Given the description of an element on the screen output the (x, y) to click on. 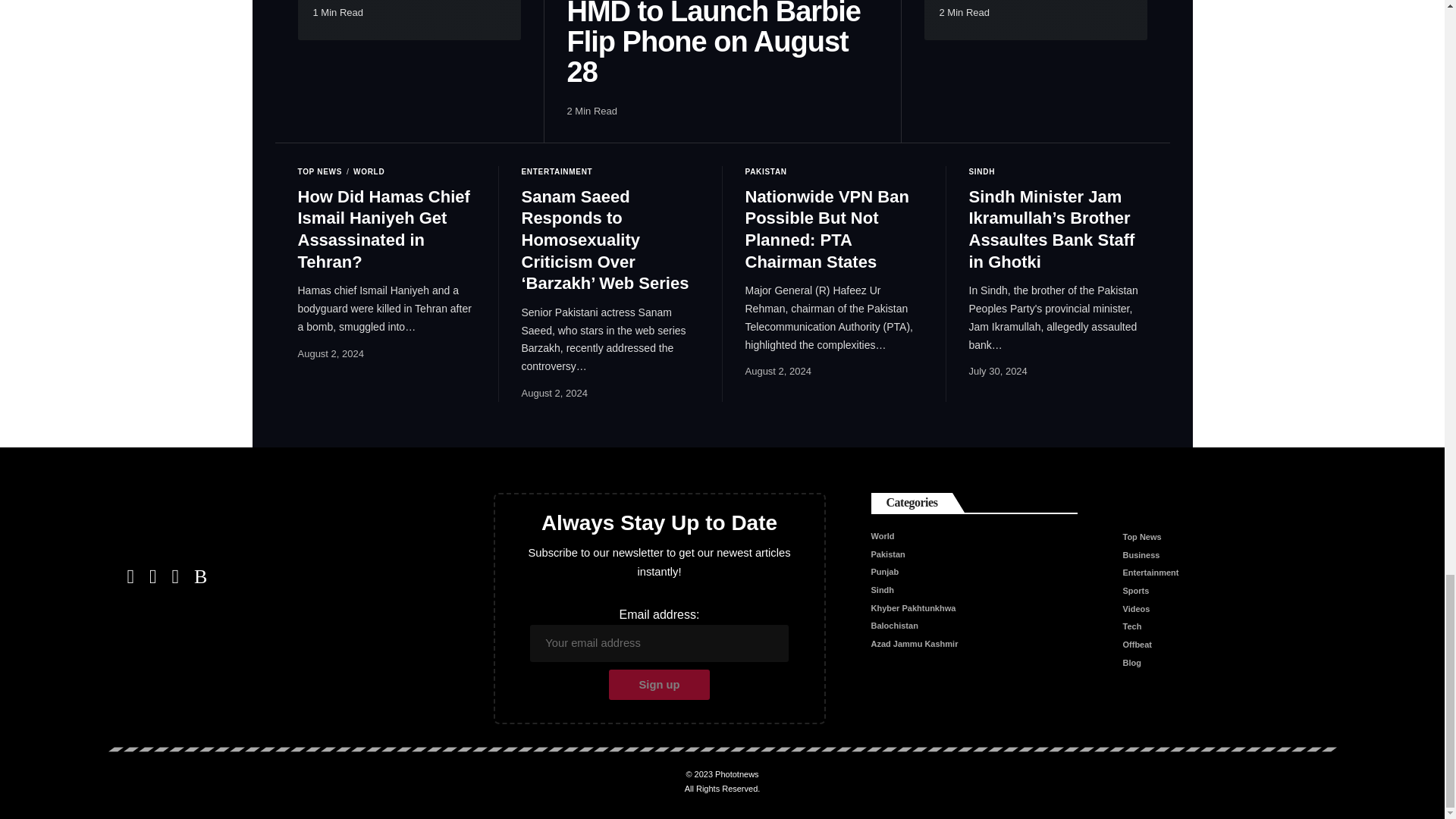
Sign up (659, 684)
Google Launches New Cross-Device Services for Android Users (1035, 20)
